Given the description of an element on the screen output the (x, y) to click on. 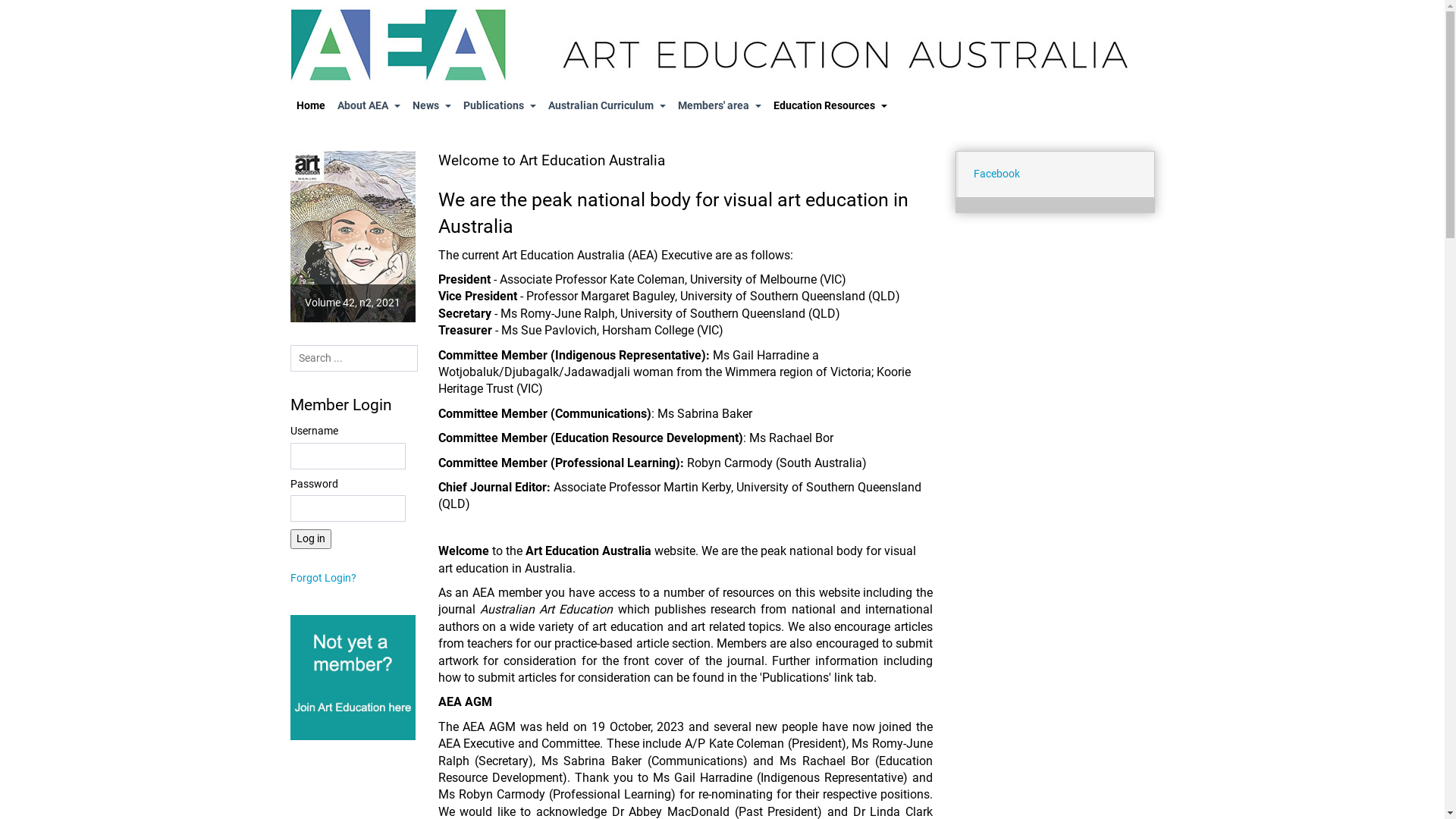
Australian Curriculum Element type: text (606, 105)
Home Element type: text (309, 105)
Art Education Australia Element type: hover (721, 45)
Publications Element type: text (498, 105)
Log in Element type: text (309, 539)
About AEA Element type: text (367, 105)
Forgot Login? Element type: text (322, 577)
Facebook Element type: text (996, 173)
Members' area Element type: text (719, 105)
News Element type: text (431, 105)
